Given the description of an element on the screen output the (x, y) to click on. 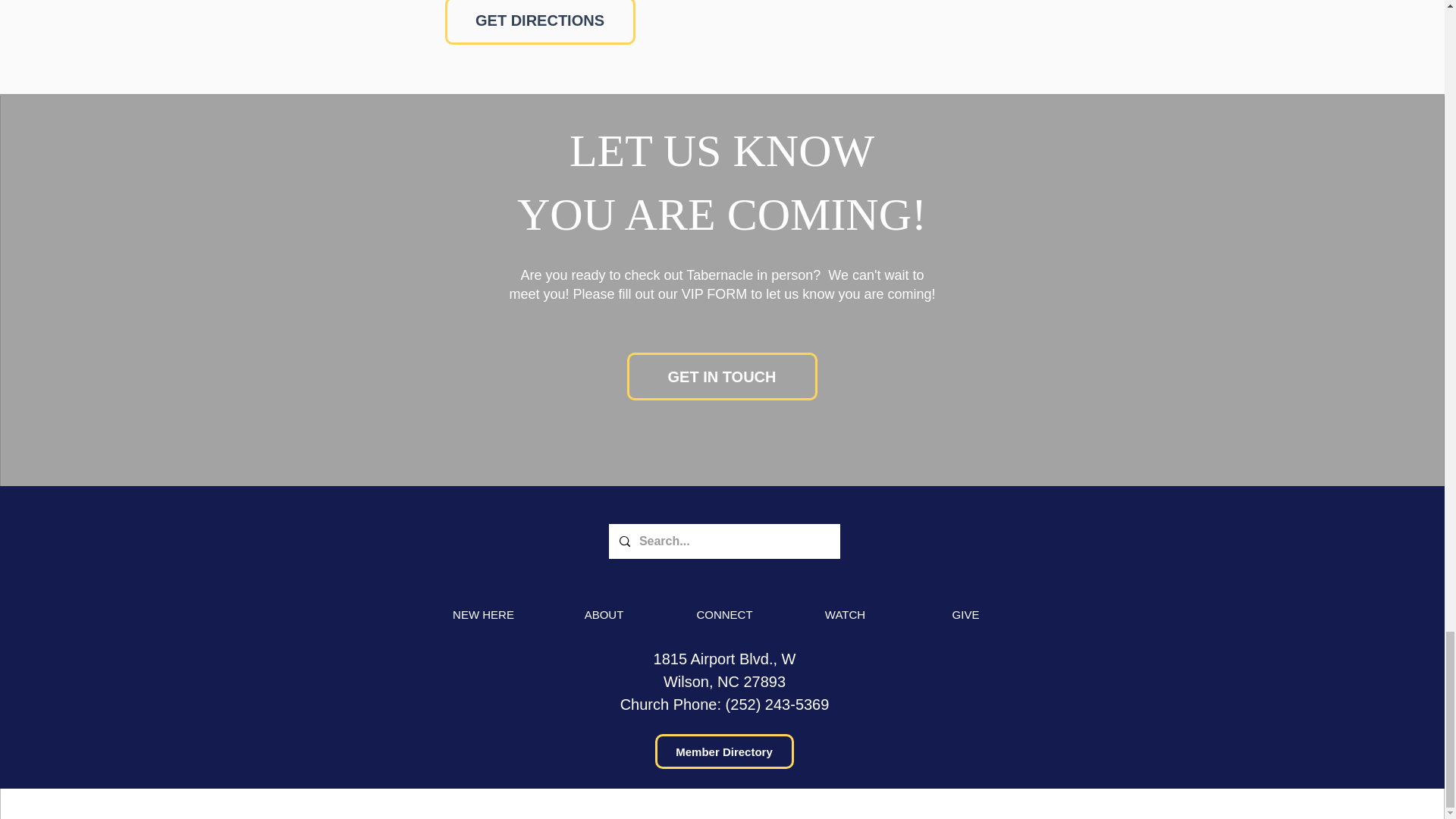
Member Directory (724, 751)
NEW HERE (483, 613)
GIVE (965, 613)
ABOUT (604, 613)
WATCH (845, 613)
GET DIRECTIONS (539, 22)
GET IN TOUCH (721, 376)
CONNECT (723, 613)
